Given the description of an element on the screen output the (x, y) to click on. 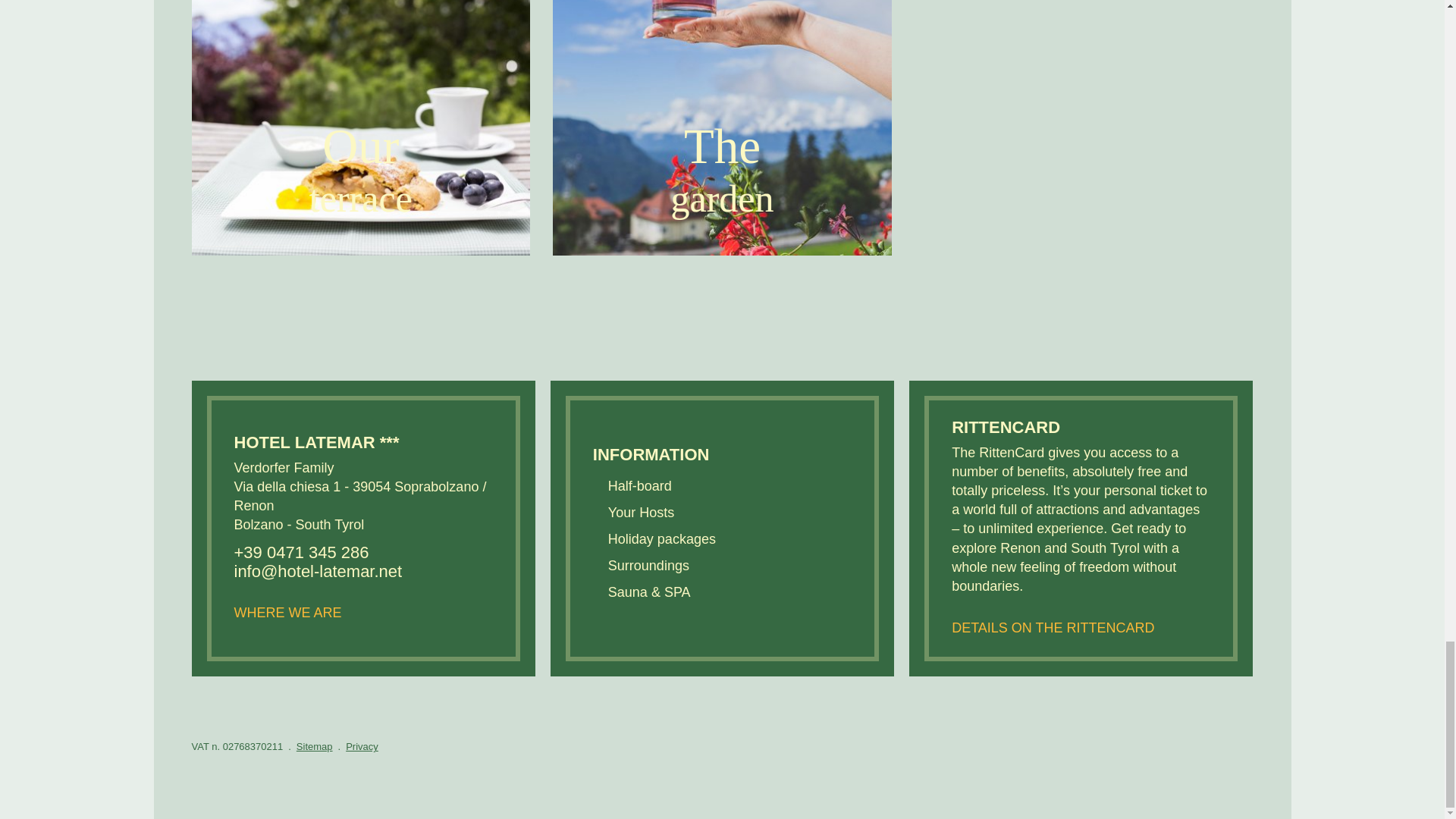
Half-board (639, 485)
Holiday packages (662, 539)
Privacy (362, 746)
Your Hosts (641, 511)
Your Hosts (641, 511)
WHERE WE ARE (359, 127)
DETAILS ON THE RITTENCARD (362, 601)
Surroundings (1080, 617)
Half-board (648, 564)
